Given the description of an element on the screen output the (x, y) to click on. 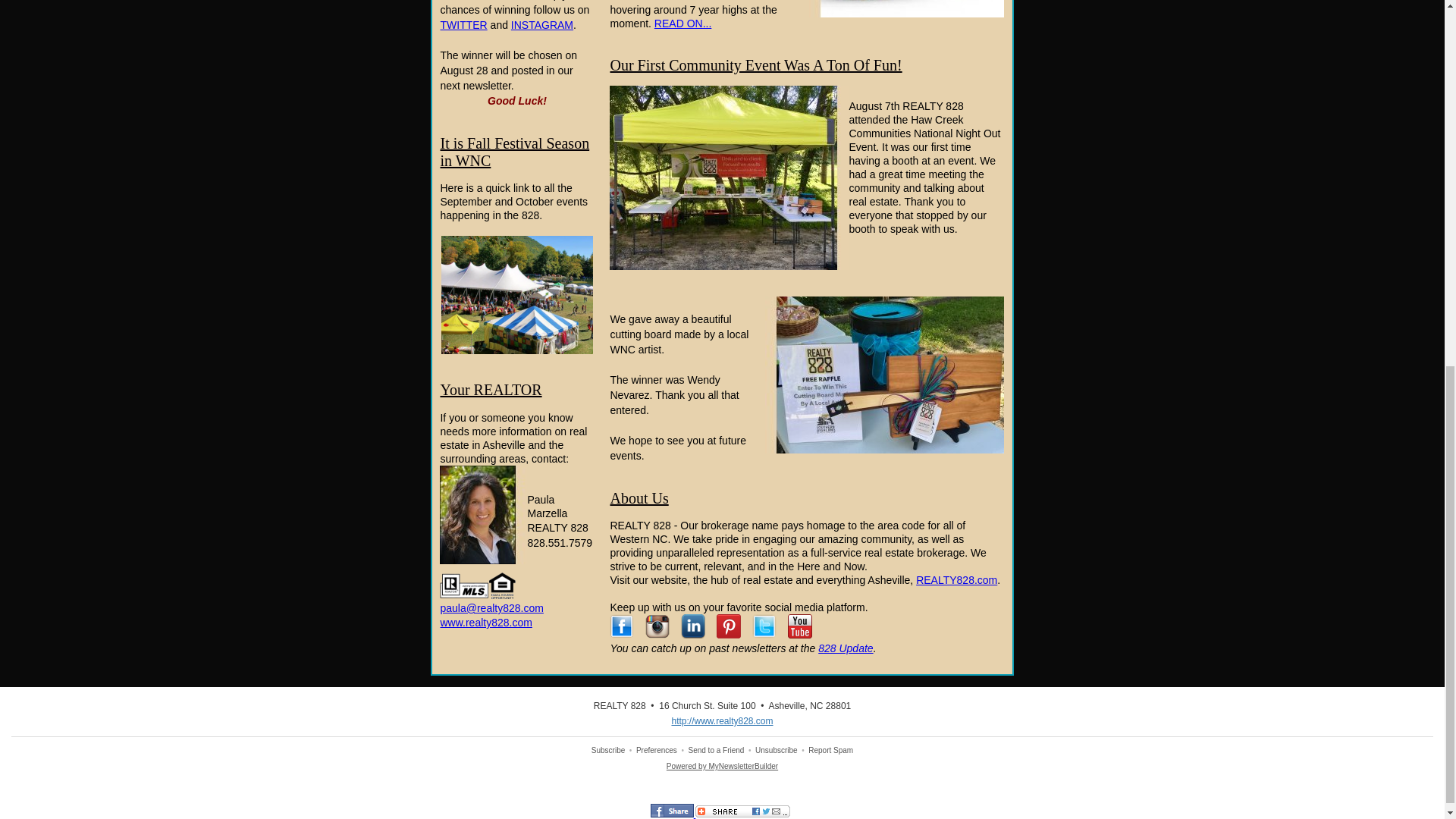
Report Spam (830, 750)
Unsubscribe (776, 750)
Send to a Friend (715, 750)
Subscribe (607, 750)
Powered by MyNewsletterBuilder (721, 766)
Contact website (485, 622)
828 Update Link (845, 648)
REALTY828.com (956, 580)
READ ON... (682, 23)
www.realty828.com (485, 622)
About us  (956, 580)
Preferences (656, 750)
FACEBOOK. (499, 0)
TWITTER (462, 24)
contact email (491, 607)
